Given the description of an element on the screen output the (x, y) to click on. 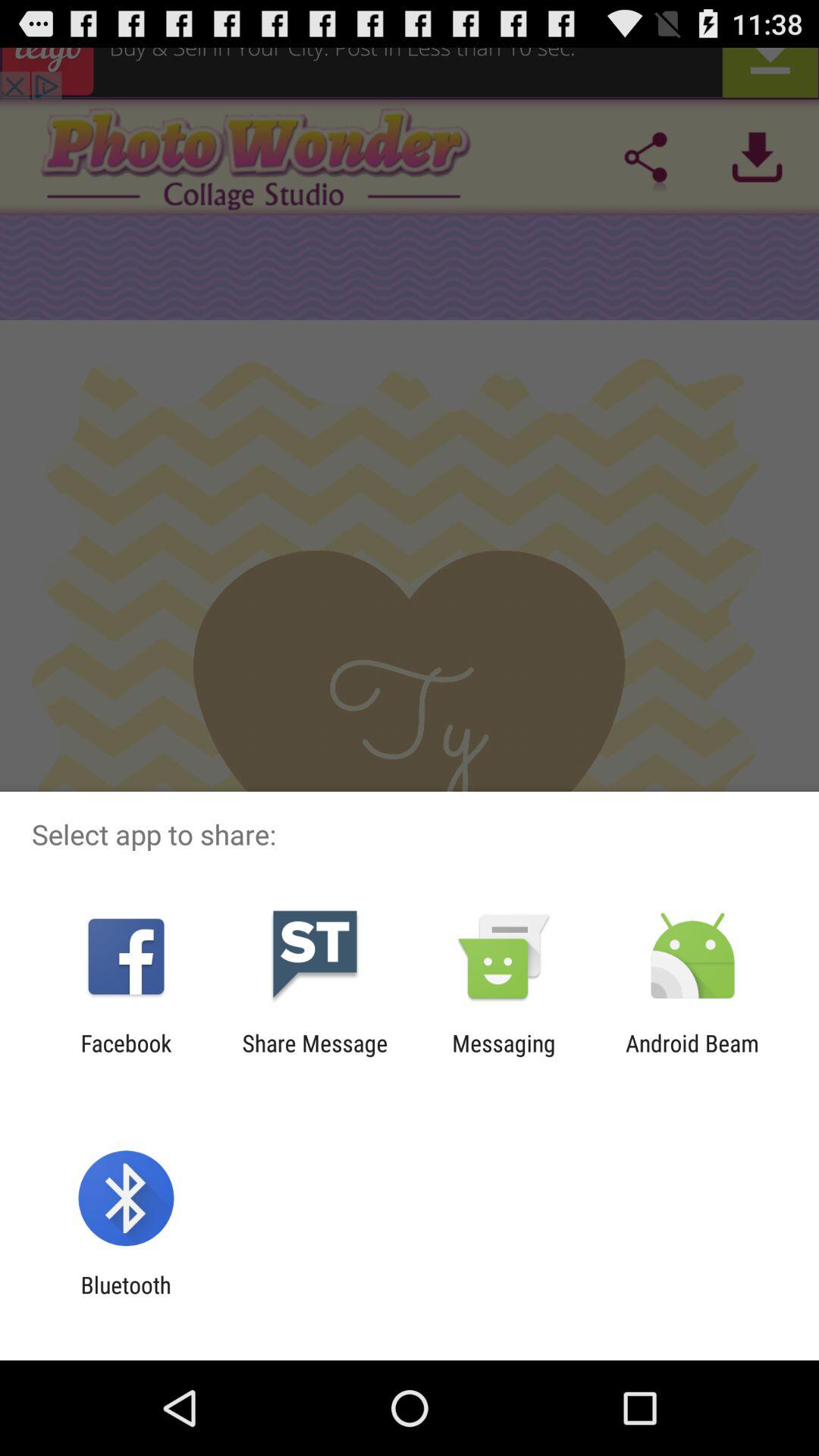
swipe to the facebook app (125, 1056)
